Given the description of an element on the screen output the (x, y) to click on. 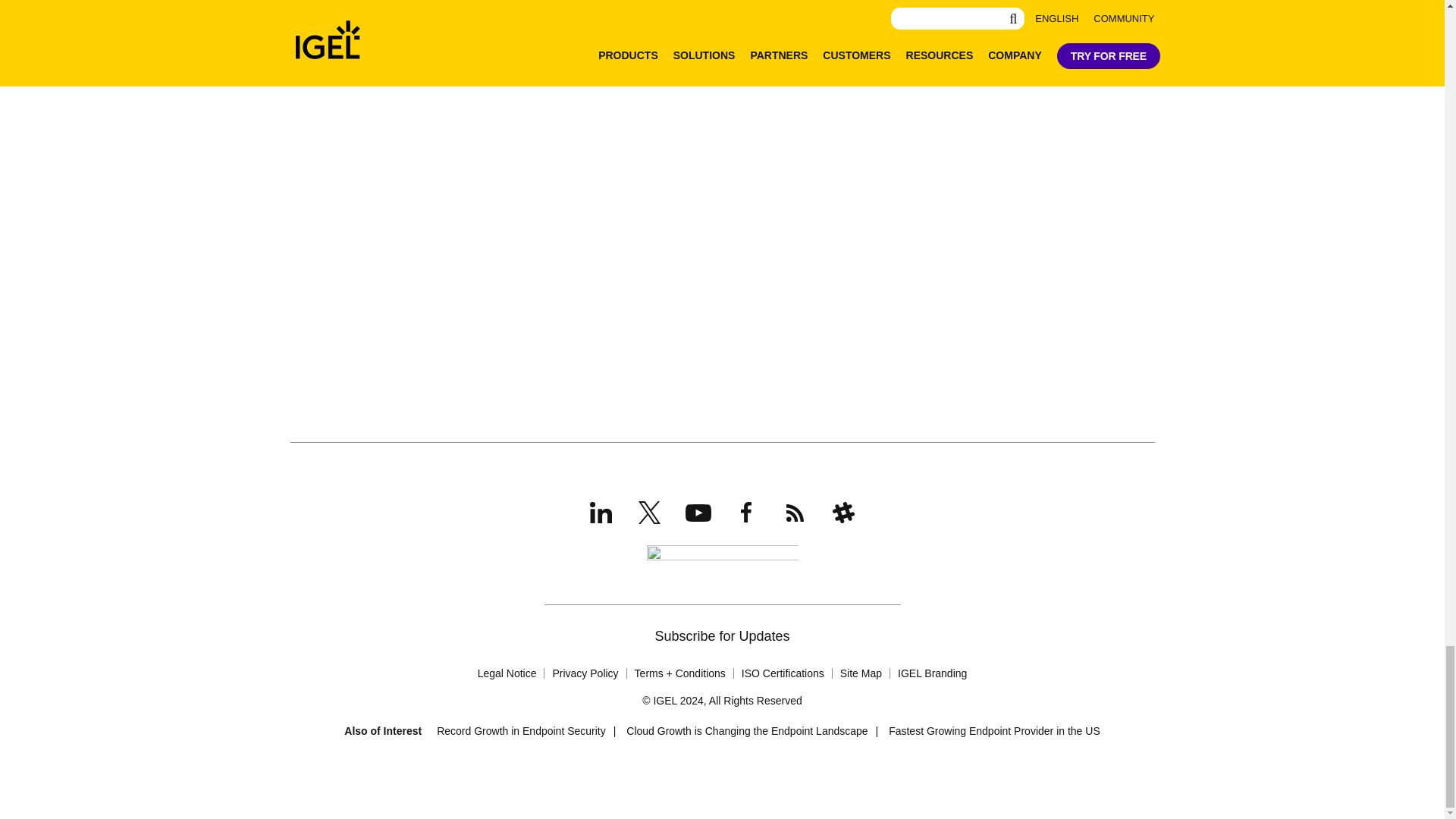
Posts by Lori Thompson (468, 45)
